Given the description of an element on the screen output the (x, y) to click on. 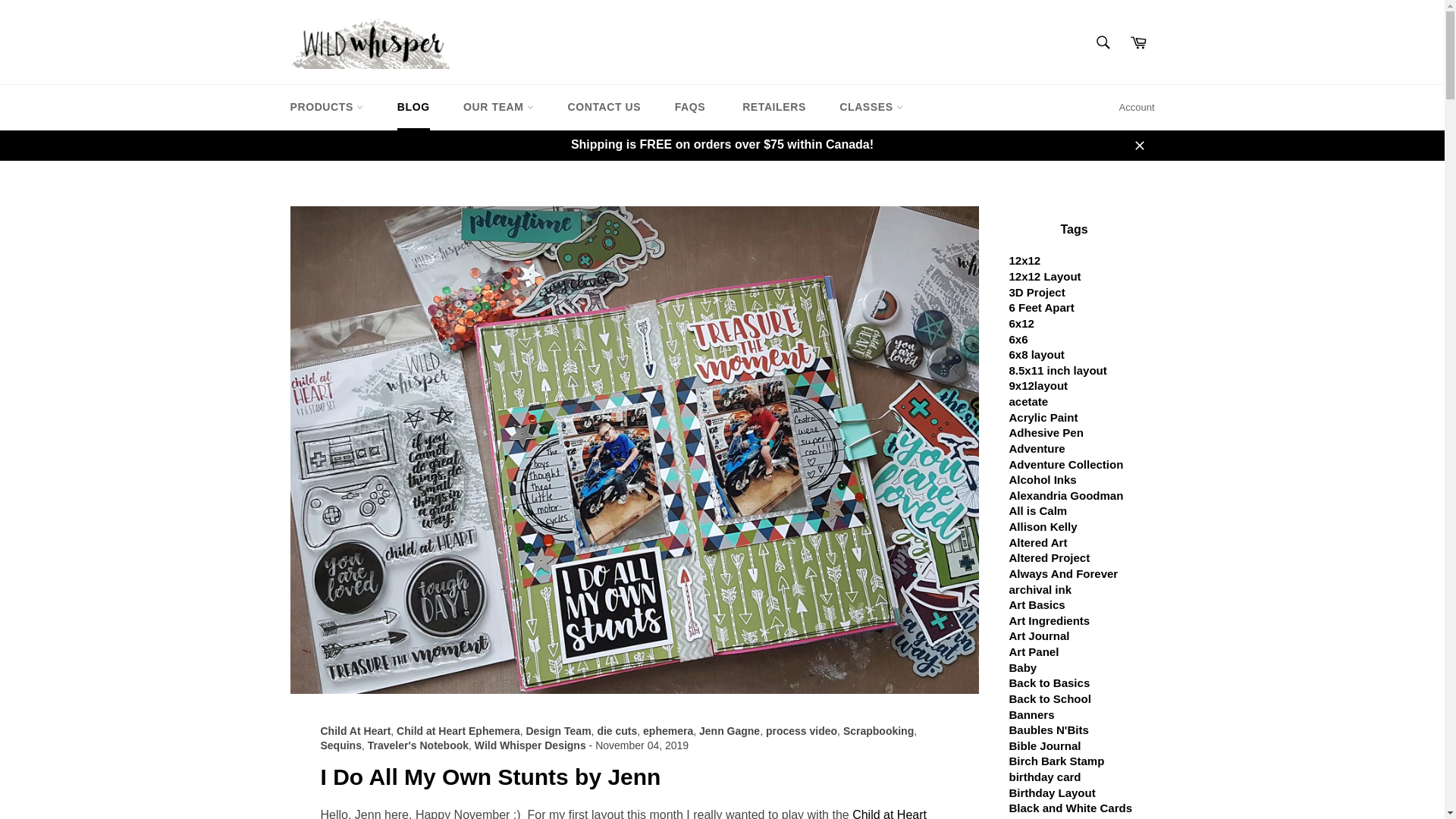
Show articles tagged Alexandria Goodman (1065, 495)
Show articles tagged All is Calm (1038, 510)
Show articles tagged Allison Kelly (1043, 526)
Show articles tagged 6x12 (1021, 323)
Show articles tagged Adventure (1036, 448)
Show articles tagged 9x12layout (1038, 385)
Show articles tagged 8.5x11 inch layout (1057, 369)
Search (1103, 42)
Show articles tagged 6 Feet Apart (1041, 307)
Show articles tagged 12x12 Layout (1044, 276)
Show articles tagged Acrylic Paint (1043, 417)
Show articles tagged acetate (1028, 400)
Show articles tagged 12x12 (1025, 259)
PRODUCTS (326, 107)
Show articles tagged Adventure Collection (1065, 463)
